Given the description of an element on the screen output the (x, y) to click on. 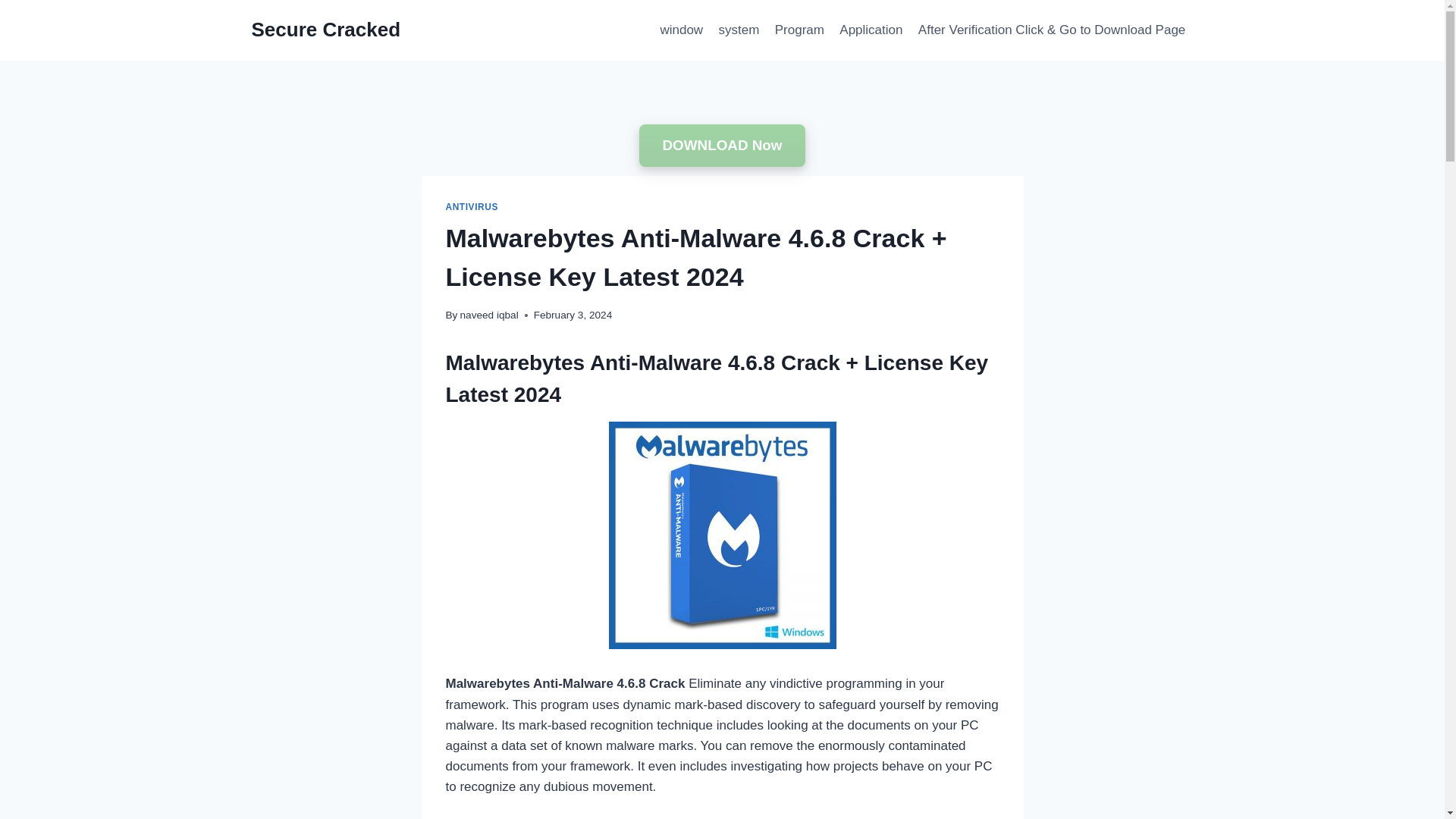
Program (799, 30)
naveed iqbal (489, 315)
window (681, 30)
DOWNLOAD Now (722, 145)
Secure Cracked (326, 29)
ANTIVIRUS (471, 206)
Application (871, 30)
system (738, 30)
DOWNLOAD Now (721, 145)
